Given the description of an element on the screen output the (x, y) to click on. 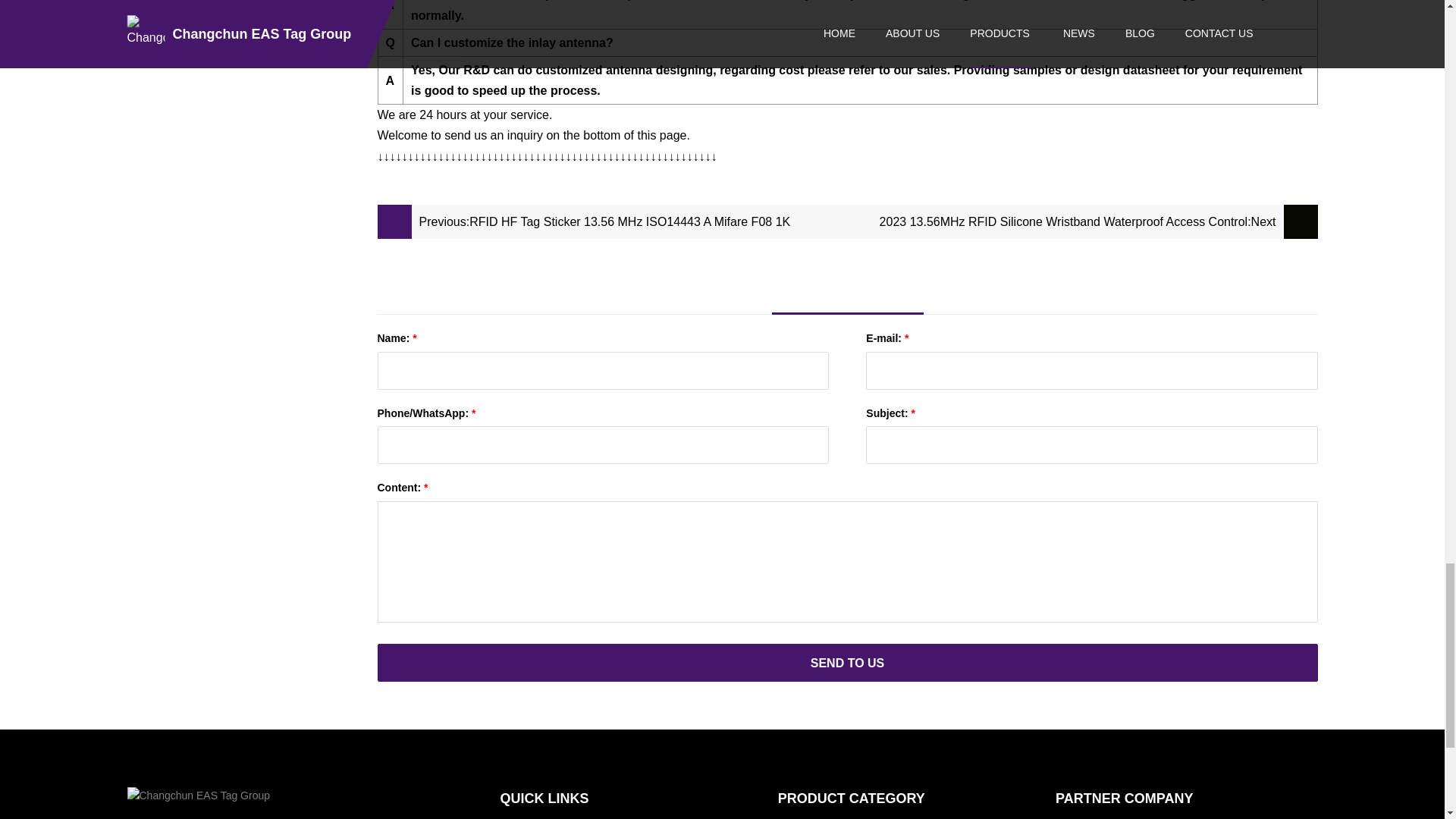
Changchun EAS Tag Group (203, 796)
